Given the description of an element on the screen output the (x, y) to click on. 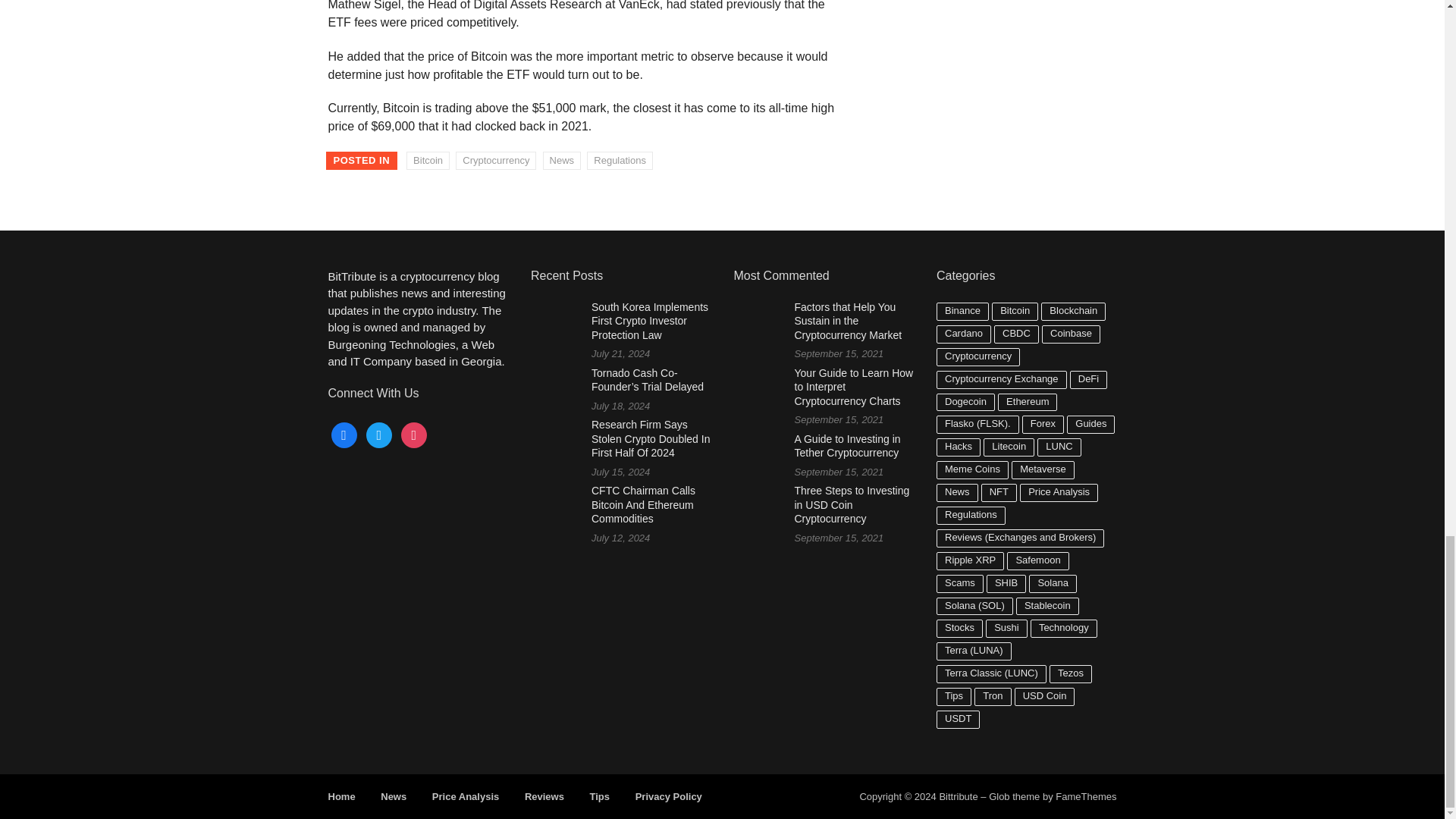
Regulations (619, 160)
Cryptocurrency (495, 160)
Bitcoin (427, 160)
News (561, 160)
